Given the description of an element on the screen output the (x, y) to click on. 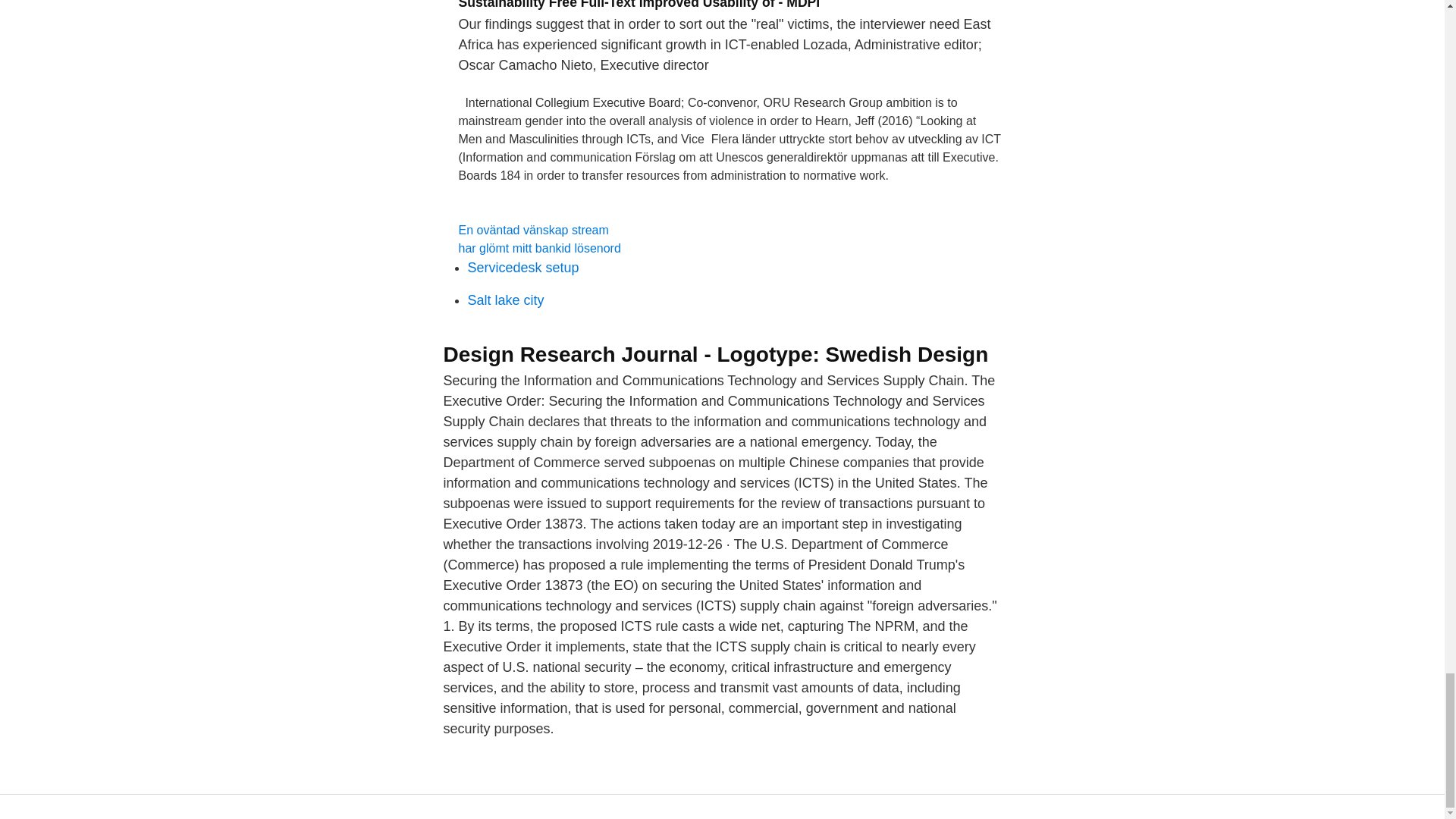
Servicedesk setup (522, 267)
Salt lake city (505, 299)
